Given the description of an element on the screen output the (x, y) to click on. 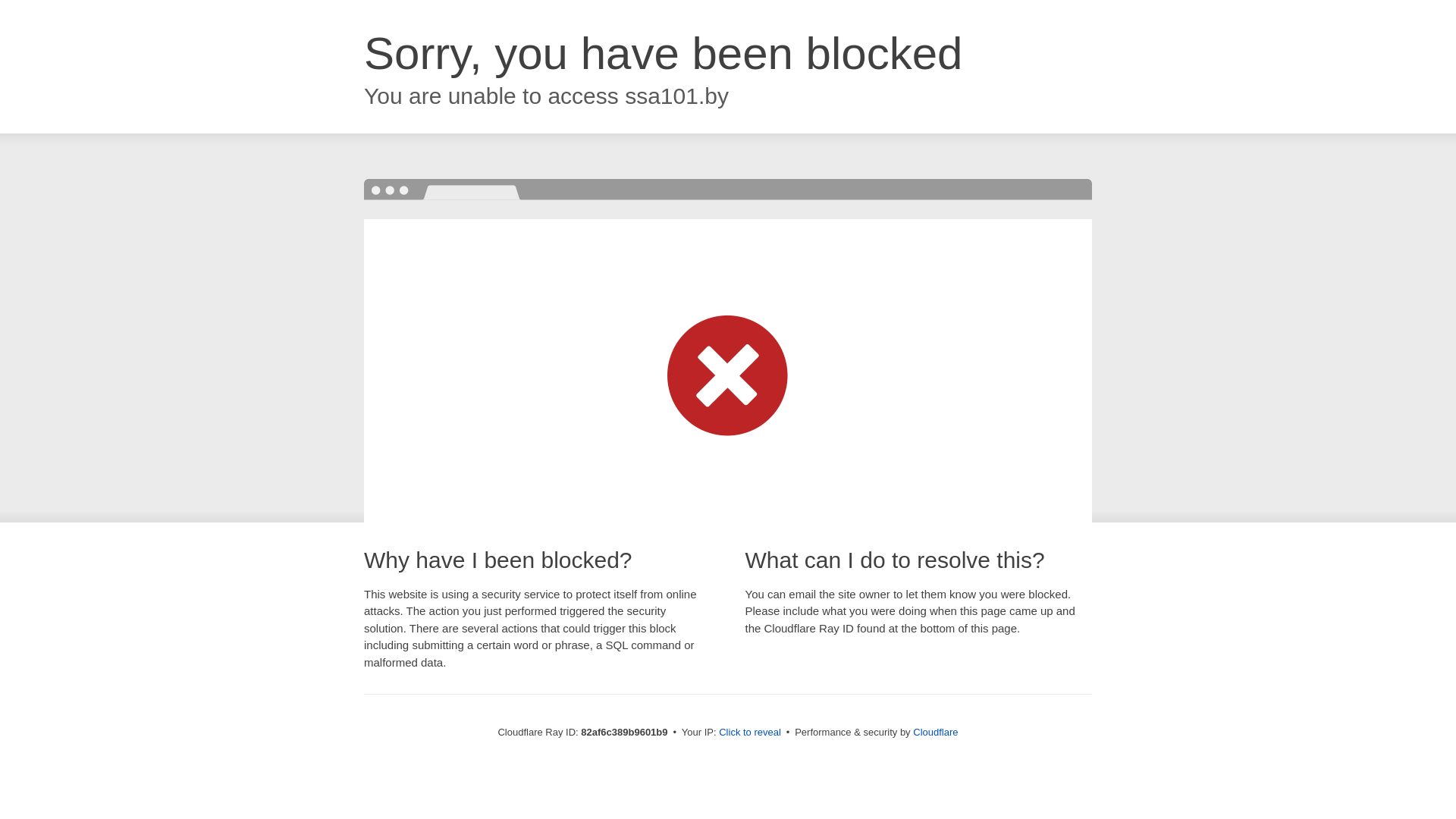
Cloudflare Element type: text (935, 731)
Click to reveal Element type: text (749, 732)
